Given the description of an element on the screen output the (x, y) to click on. 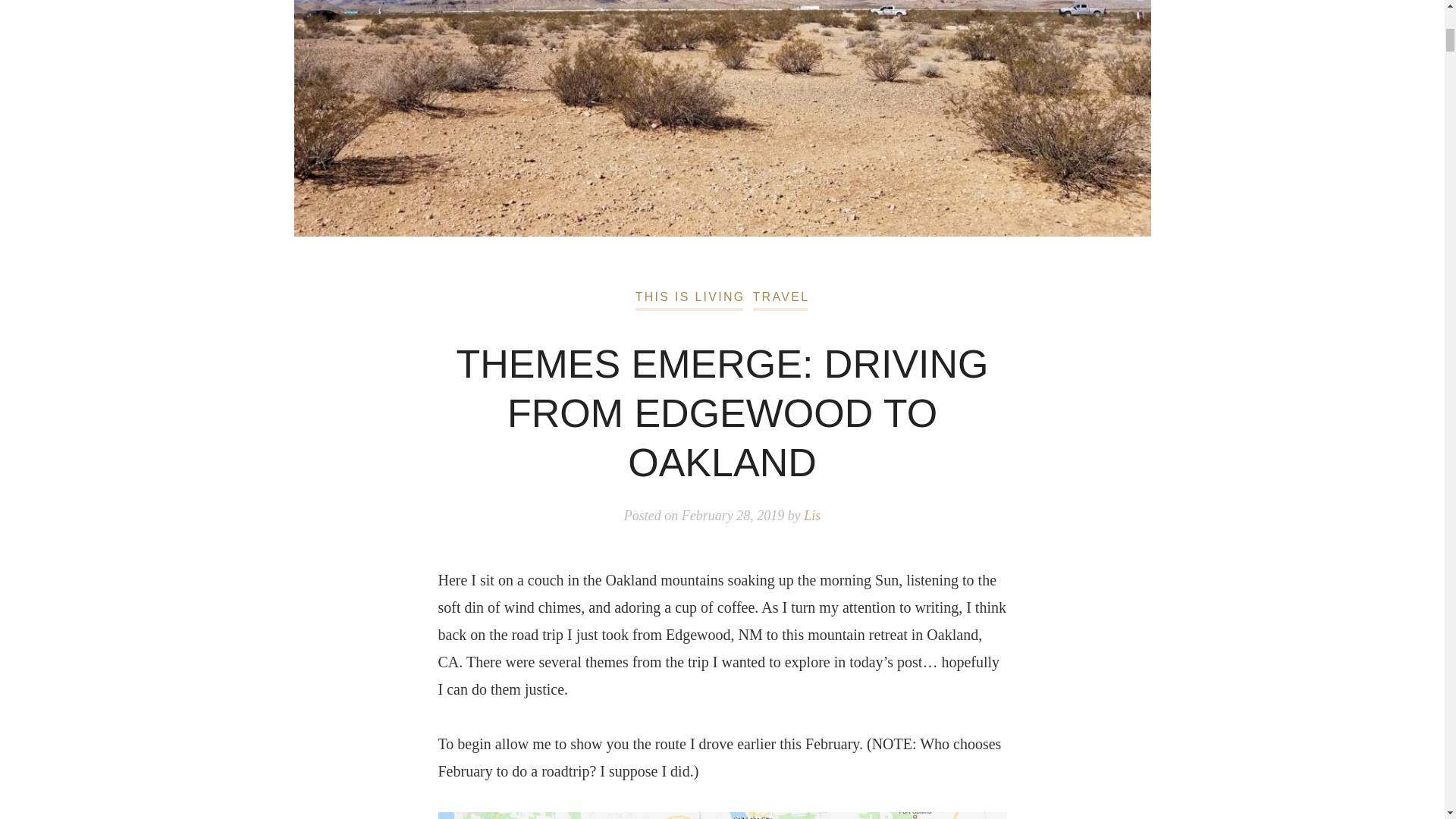
TRAVEL (780, 296)
THEMES EMERGE: DRIVING FROM EDGEWOOD TO OAKLAND (721, 413)
THIS IS LIVING (689, 296)
Lis (812, 515)
